Given the description of an element on the screen output the (x, y) to click on. 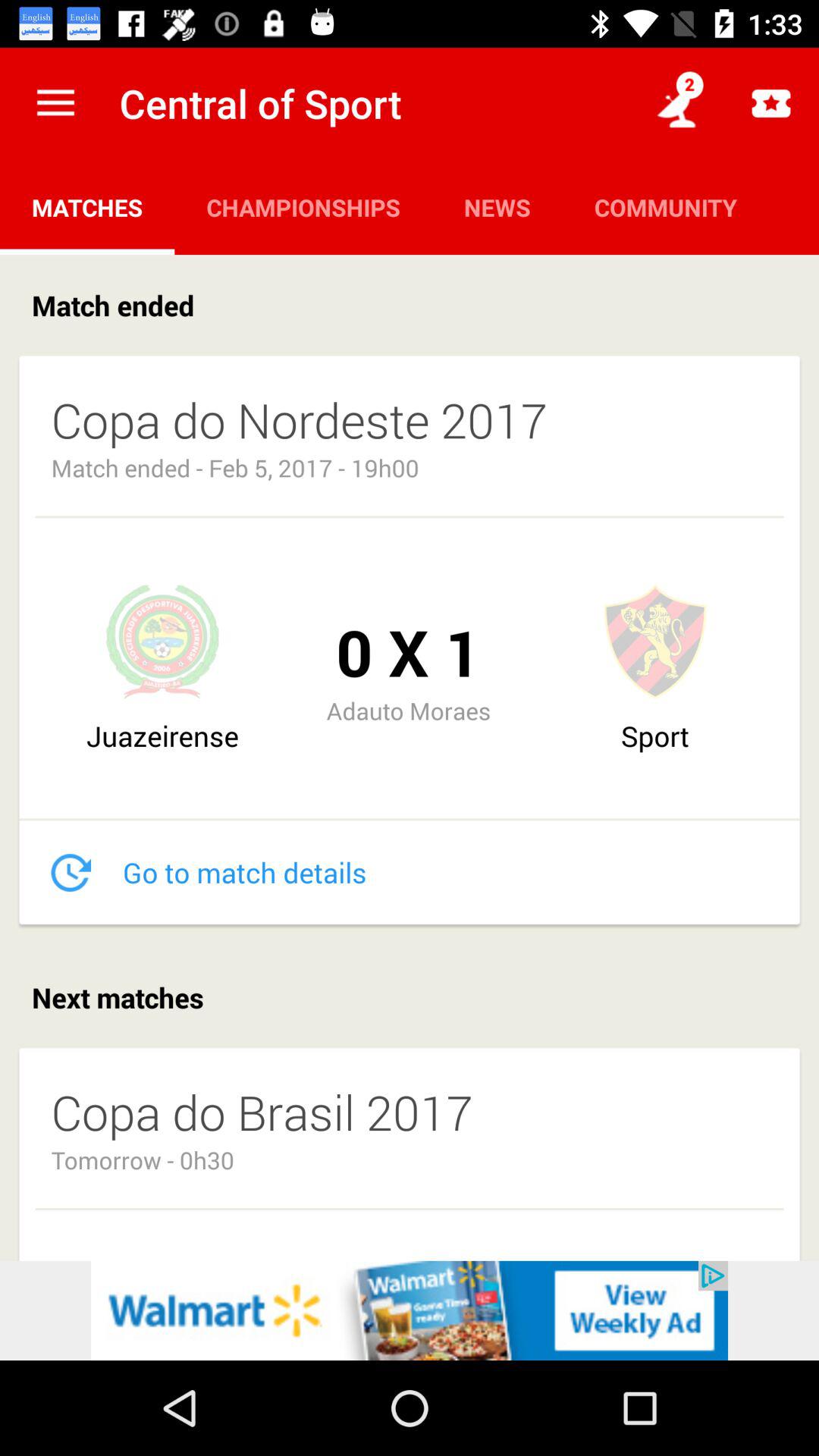
recents screen android developers walmart (409, 1310)
